Given the description of an element on the screen output the (x, y) to click on. 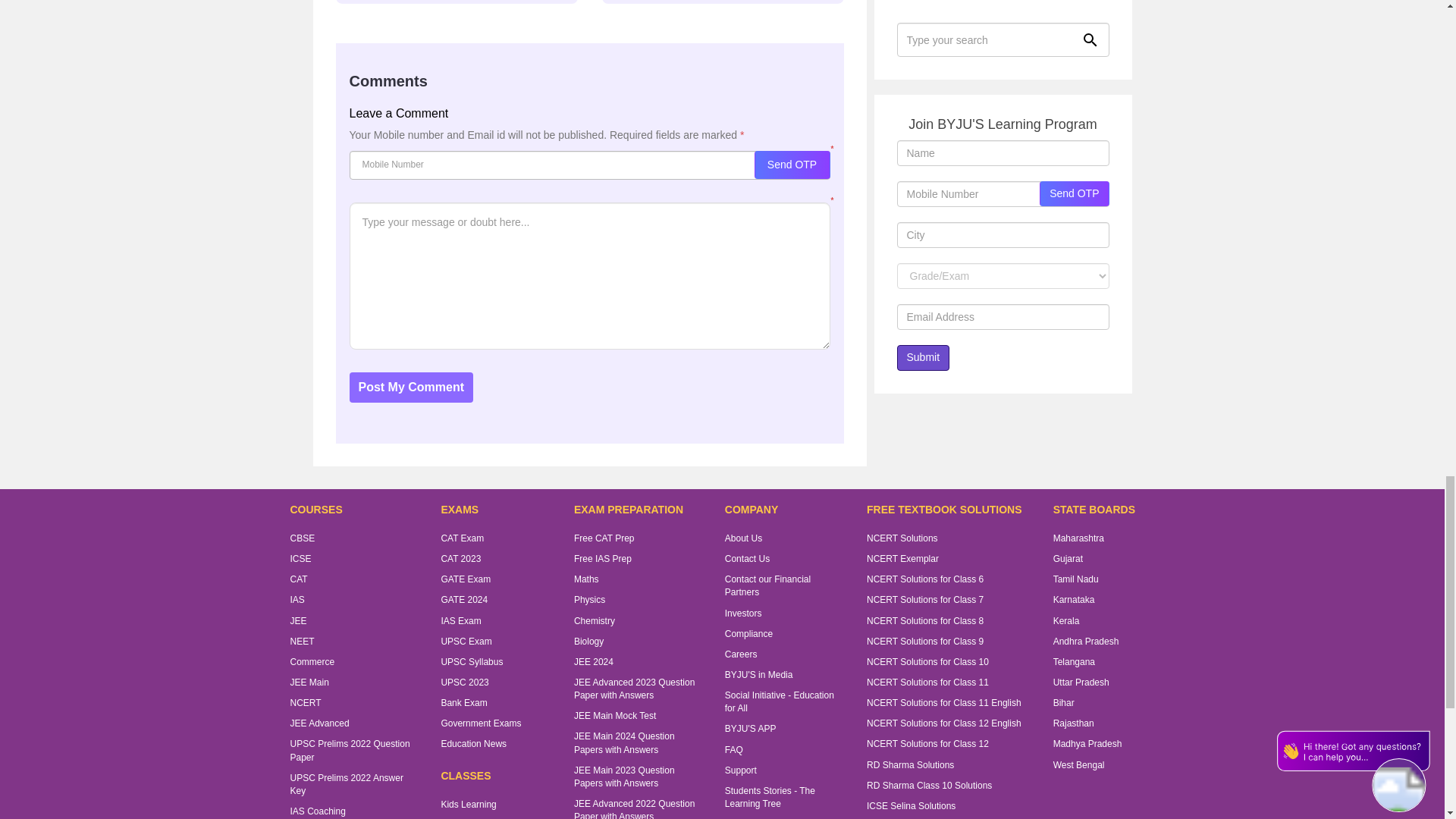
8th Std Samacheer Kalvi Books (455, 2)
Plus One New Syllabus In Tamilnadu (723, 2)
